Given the description of an element on the screen output the (x, y) to click on. 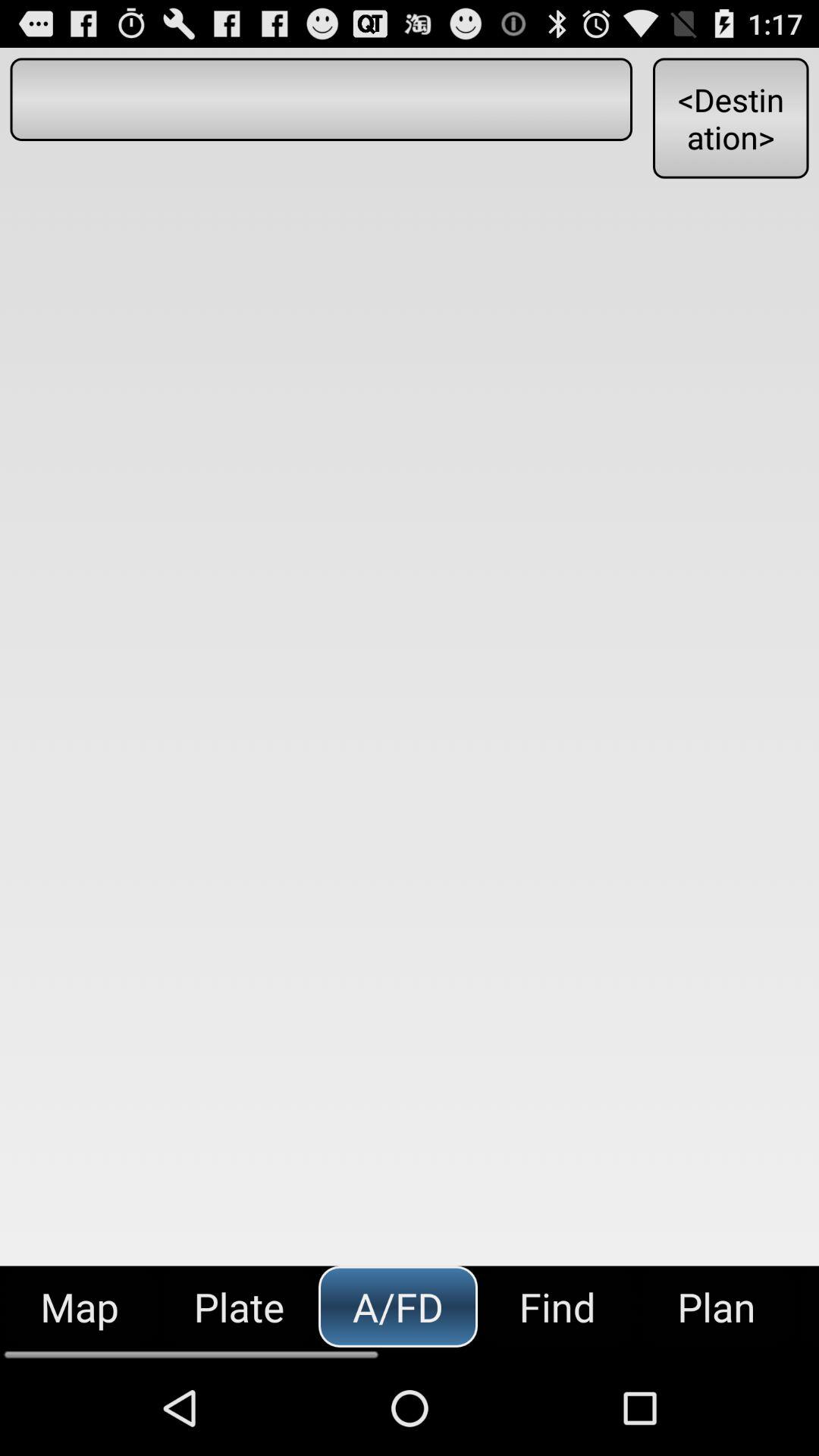
open button to the left of the <destination> (321, 99)
